Given the description of an element on the screen output the (x, y) to click on. 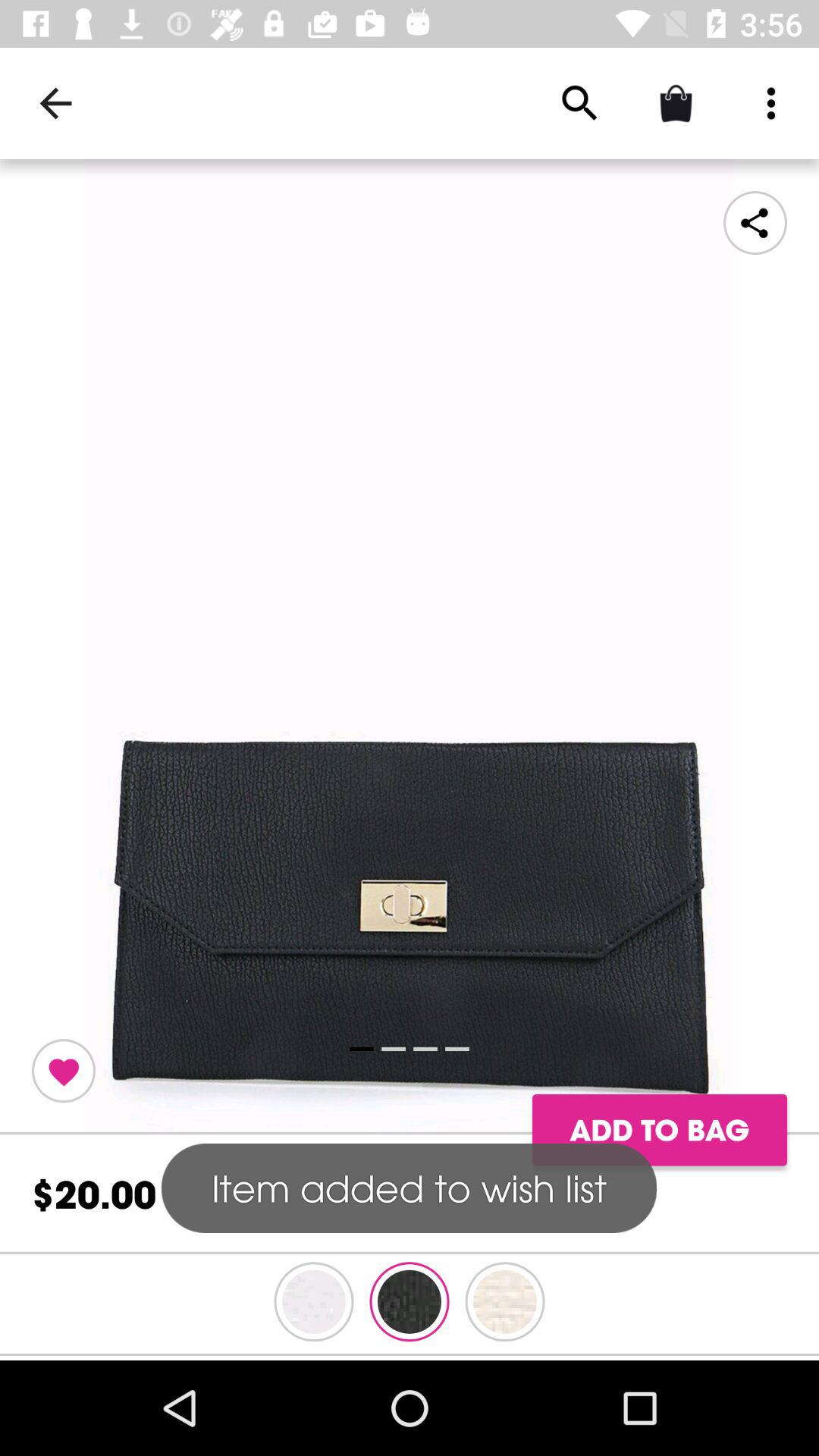
go to favourite (63, 1070)
